Given the description of an element on the screen output the (x, y) to click on. 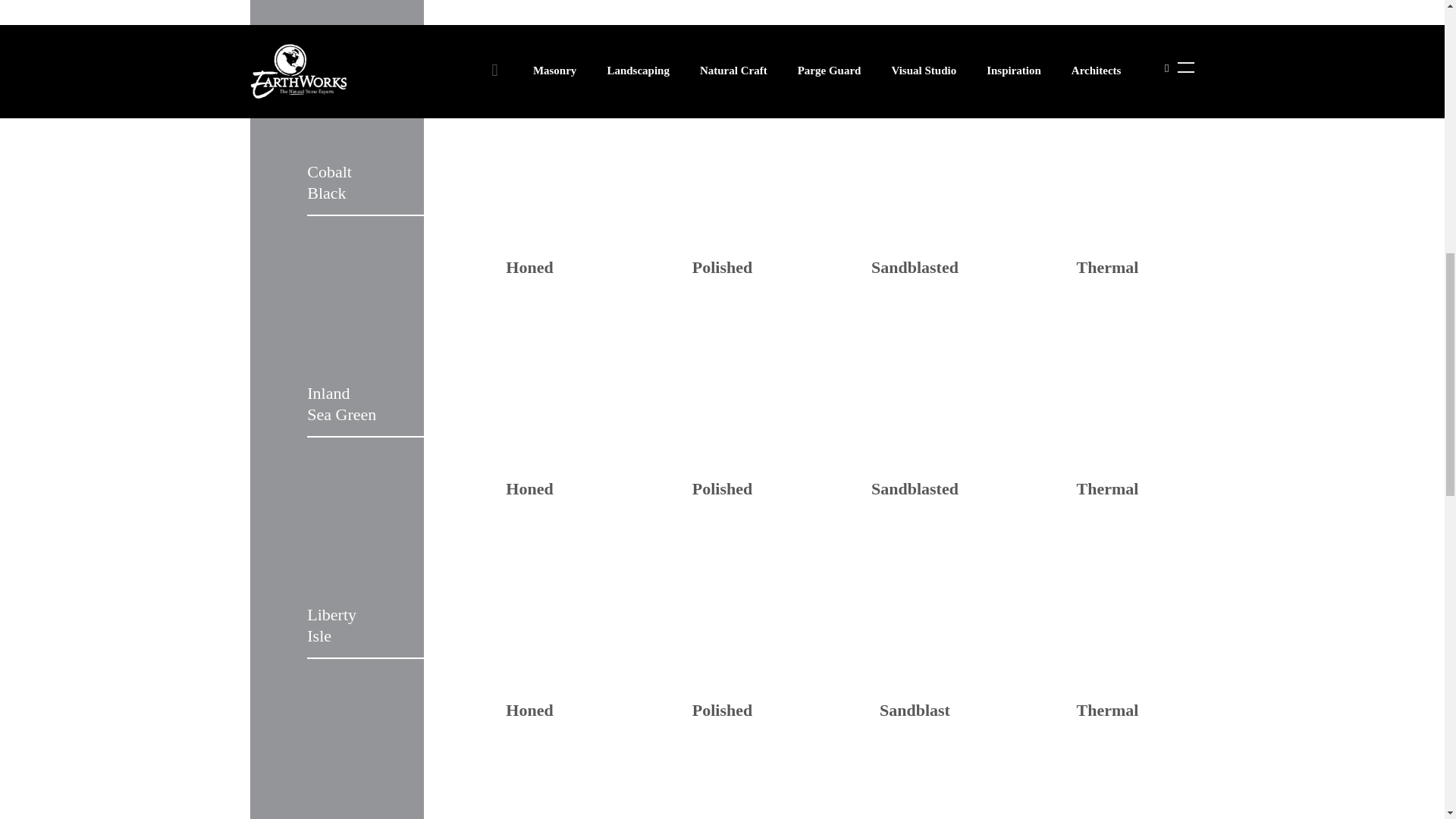
Sandblasted (914, 25)
Polished (721, 25)
Thermal (1106, 25)
